Given the description of an element on the screen output the (x, y) to click on. 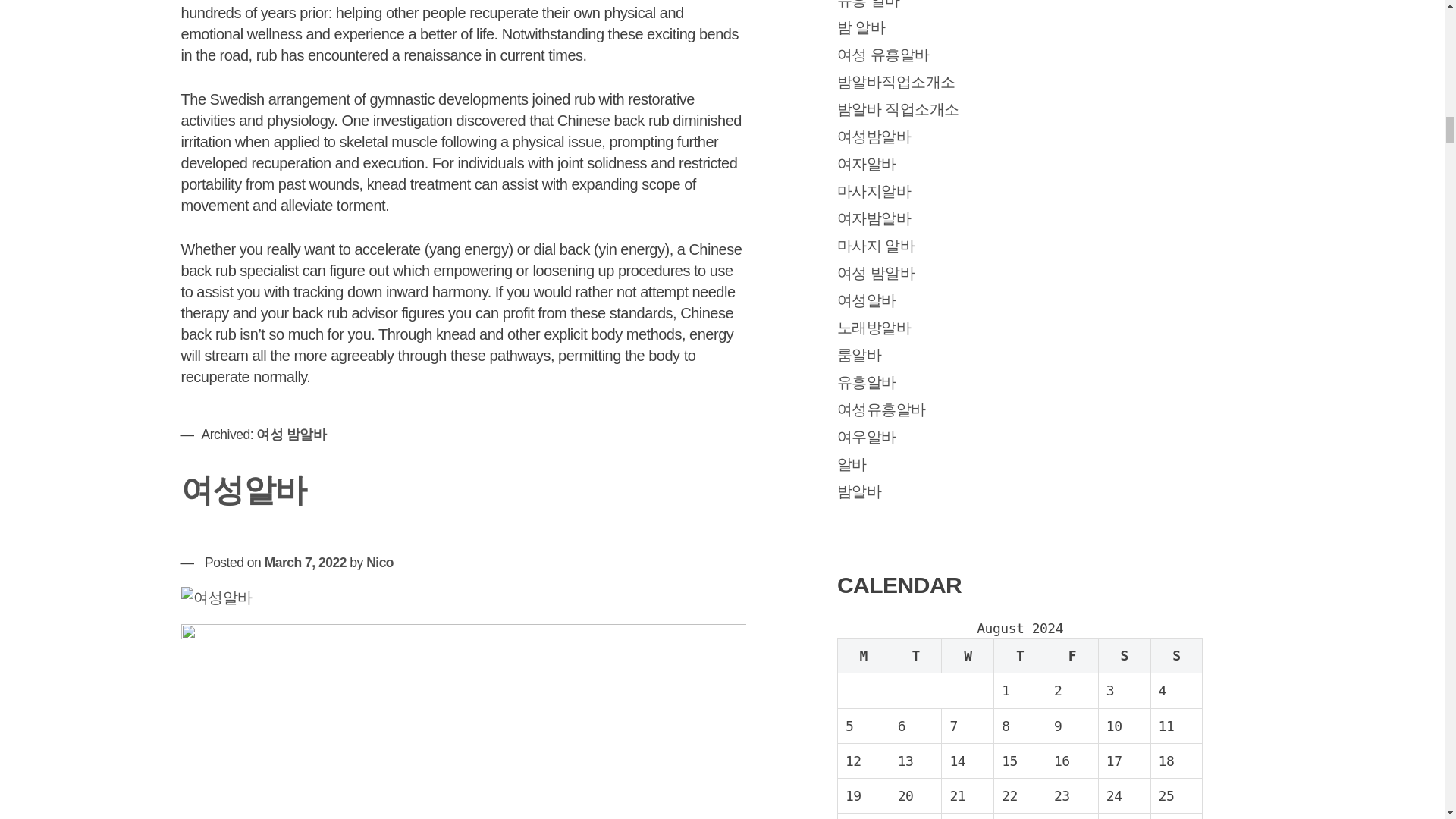
Tuesday (915, 655)
Saturday (1123, 655)
Monday (863, 655)
Friday (1072, 655)
Wednesday (968, 655)
Thursday (1020, 655)
Nico (379, 562)
March 7, 2022 (305, 562)
Sunday (1176, 655)
